Given the description of an element on the screen output the (x, y) to click on. 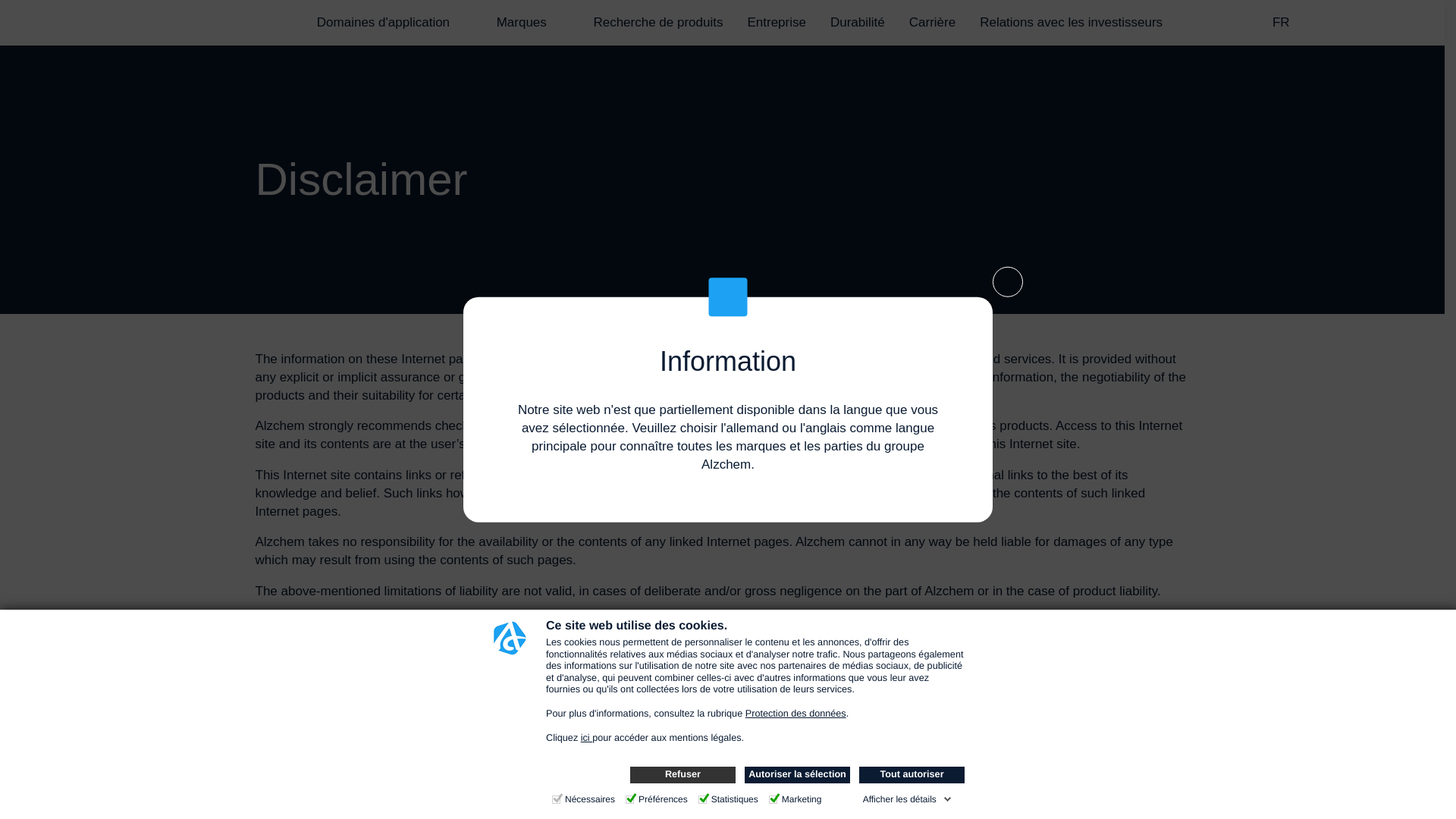
Tout autoriser (911, 774)
Refuser (682, 774)
ici (586, 737)
